Given the description of an element on the screen output the (x, y) to click on. 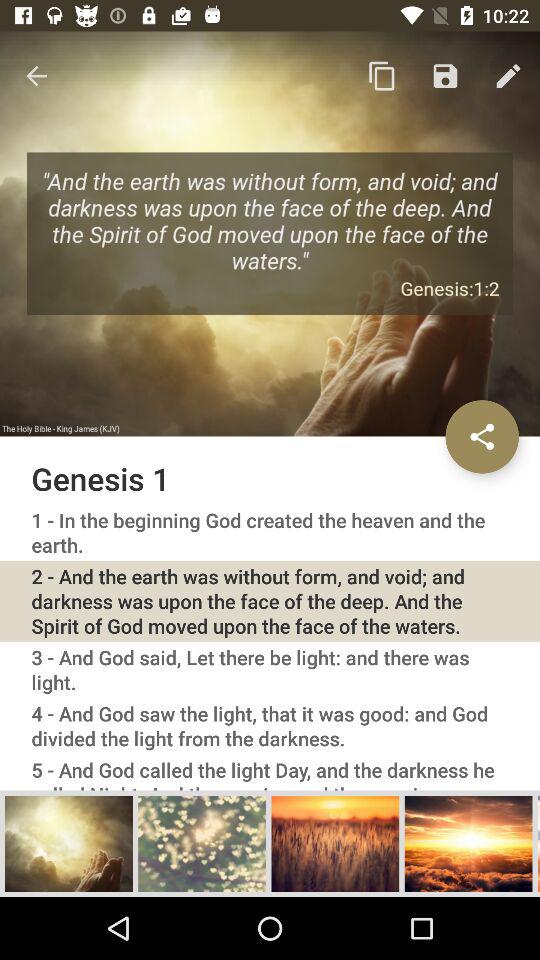
select background (335, 843)
